Given the description of an element on the screen output the (x, y) to click on. 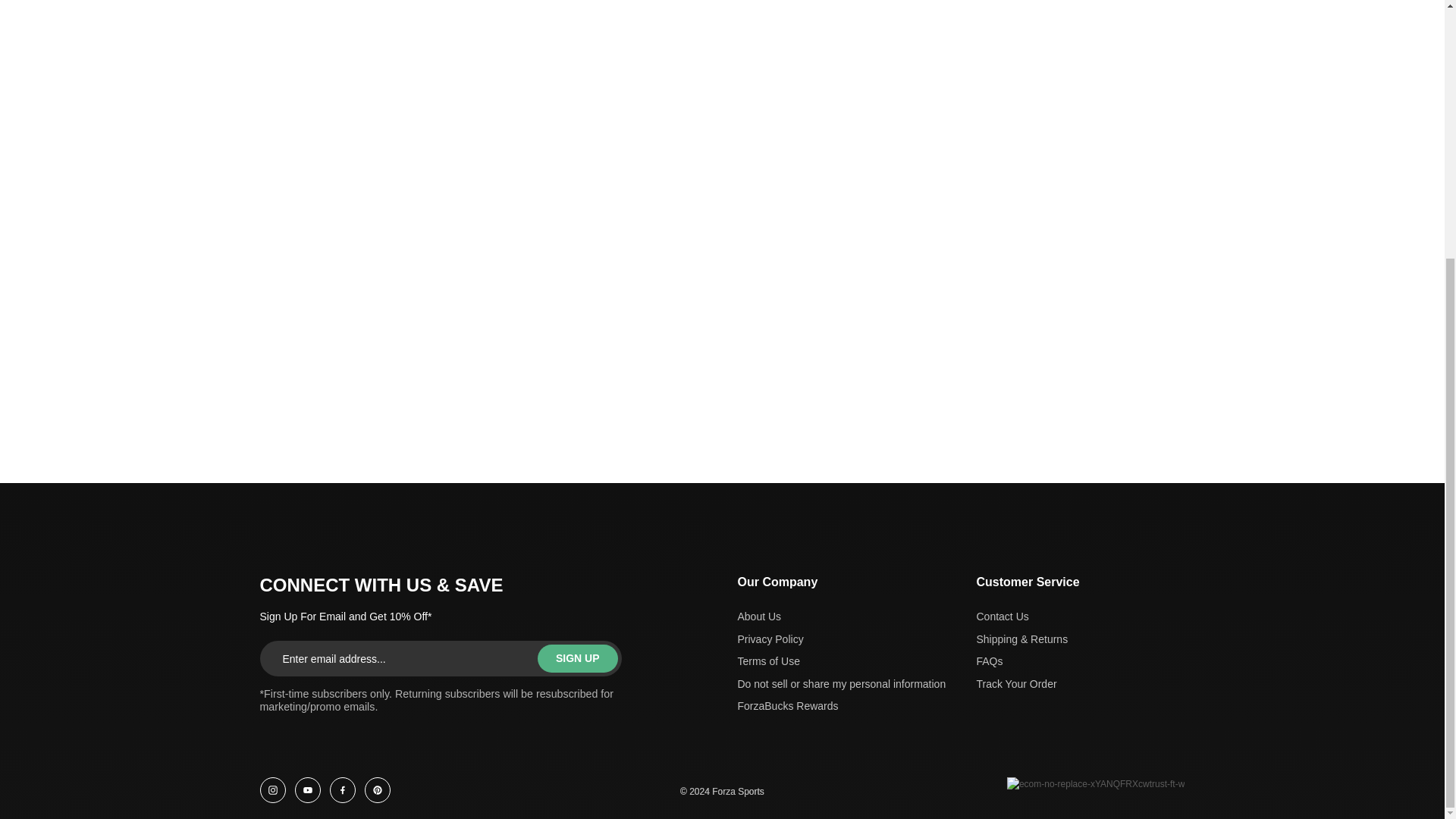
About Us (840, 616)
Terms of Use (840, 661)
Do not sell or share my personal information (840, 684)
Track Your Order (1022, 684)
Contact Us (1022, 616)
ForzaBucks Rewards (840, 706)
FAQs (1022, 661)
Privacy Policy (840, 639)
